Given the description of an element on the screen output the (x, y) to click on. 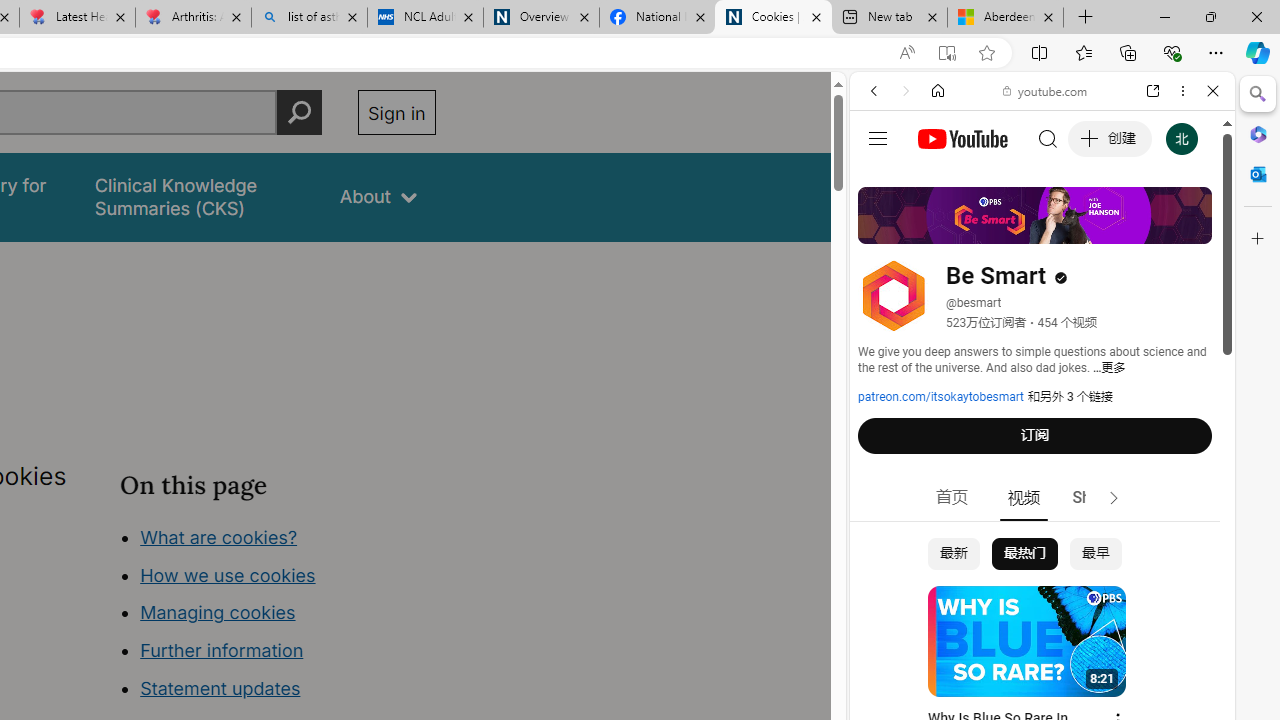
YouTube (1034, 296)
Cookies | About | NICE (772, 17)
false (198, 196)
Perform search (299, 112)
patreon.com/itsokaytobesmart (941, 397)
